Given the description of an element on the screen output the (x, y) to click on. 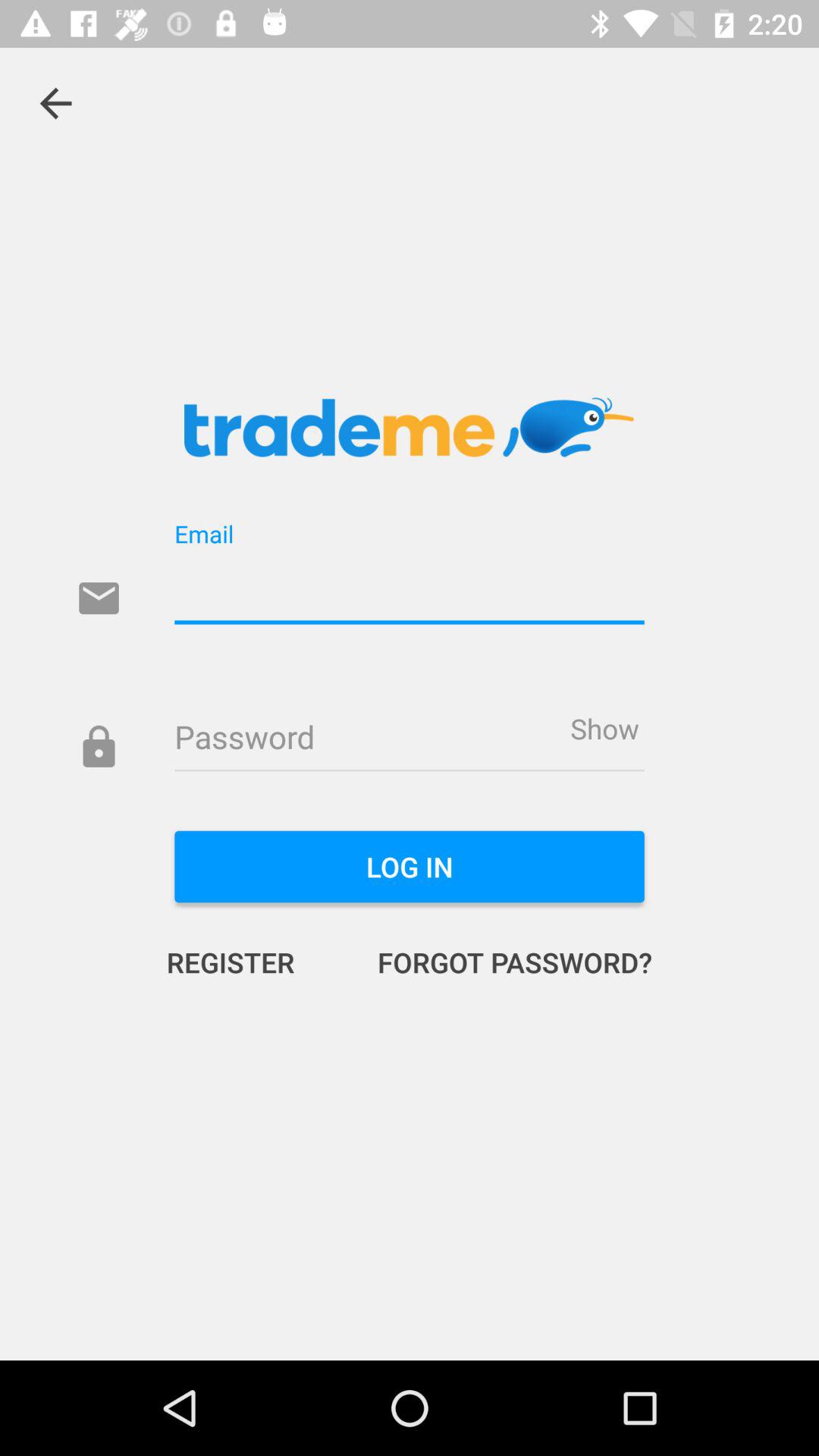
choose the item next to the forgot password? item (246, 962)
